Given the description of an element on the screen output the (x, y) to click on. 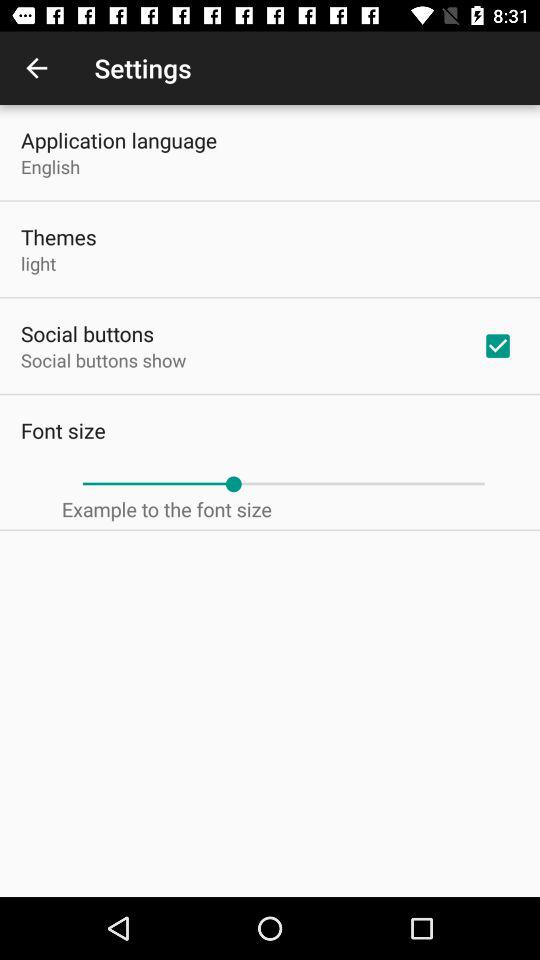
choose the icon above the example to the item (283, 484)
